Given the description of an element on the screen output the (x, y) to click on. 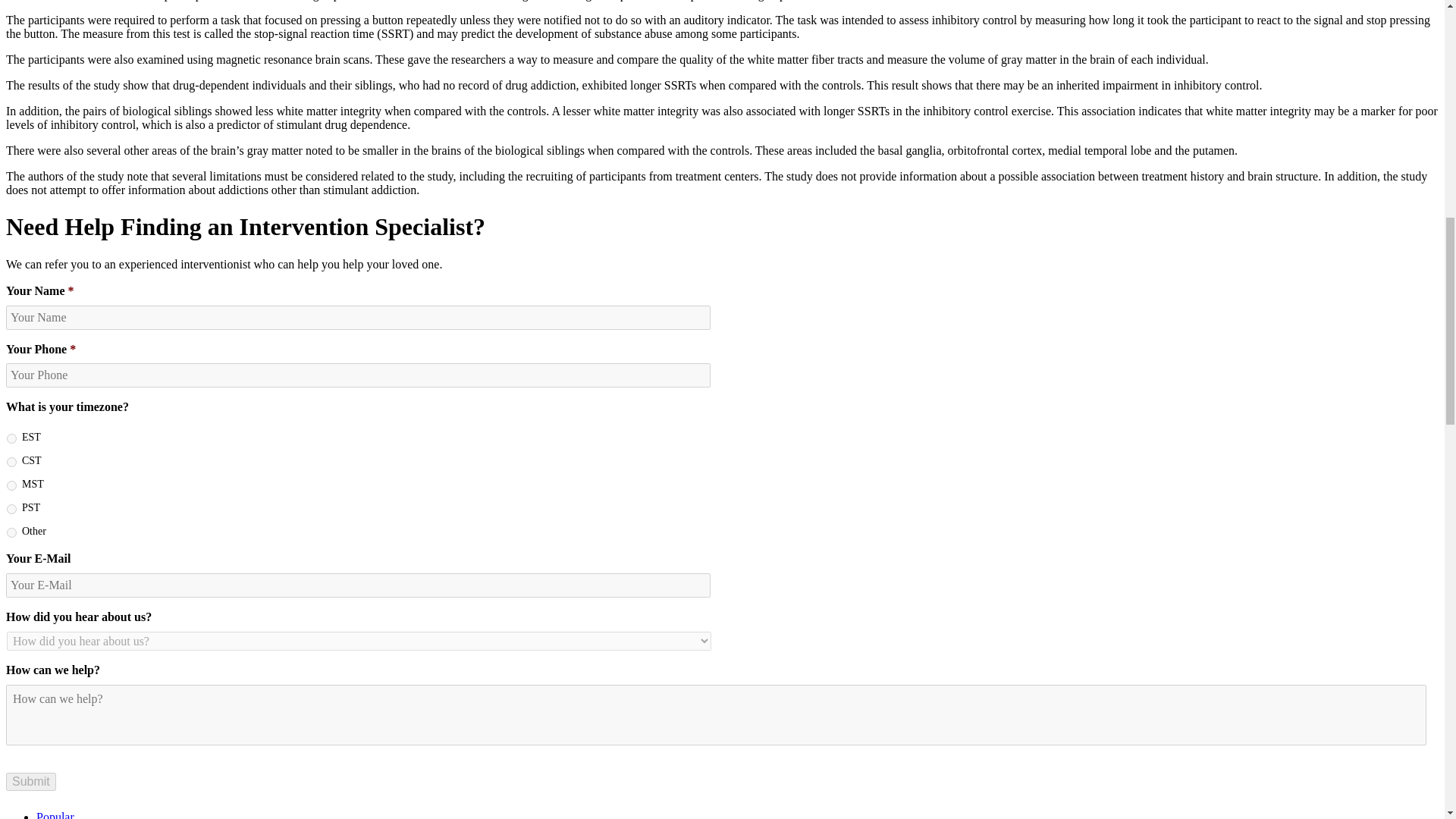
PST (11, 509)
Submit (30, 782)
EST (11, 438)
MST (11, 485)
CST (11, 461)
Other (11, 532)
Submit (30, 782)
